Given the description of an element on the screen output the (x, y) to click on. 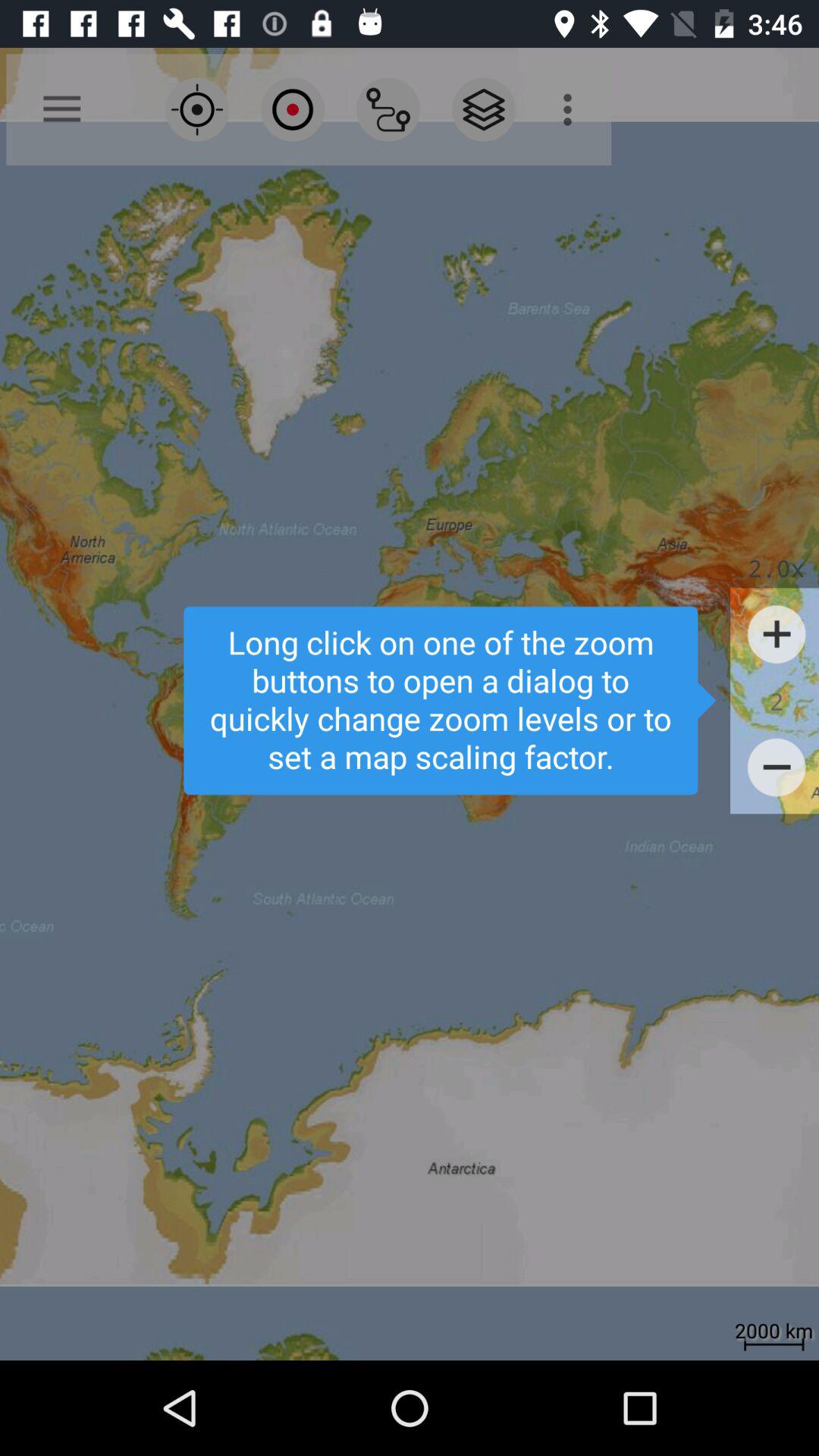
choose the icon above 2 item (776, 634)
